Given the description of an element on the screen output the (x, y) to click on. 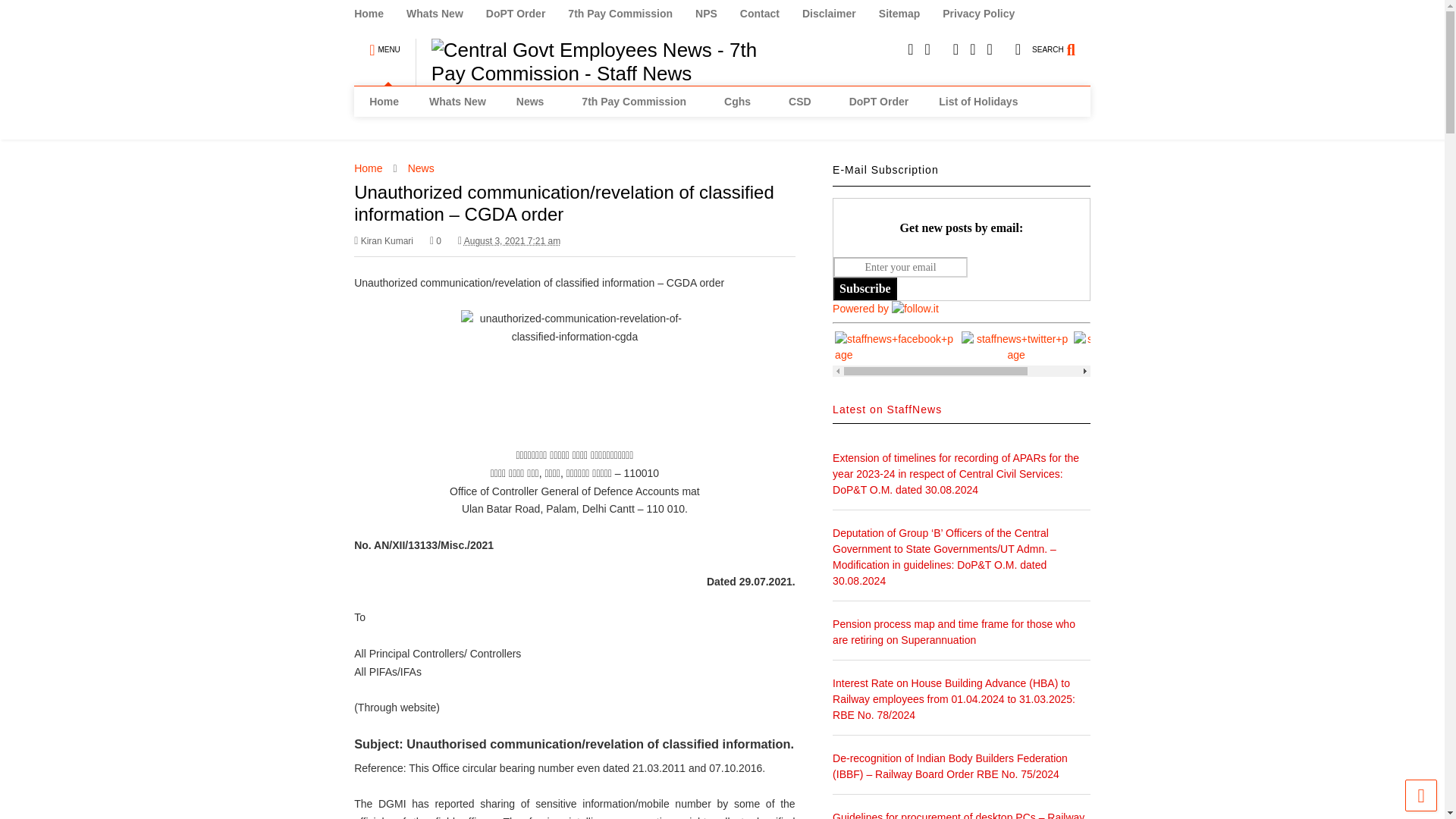
7th Pay Commission (631, 13)
MENU (383, 42)
Contact (770, 13)
Whats New (446, 13)
Home (379, 13)
7th Pay Commission (637, 101)
News (533, 101)
Whats New (456, 101)
Home (383, 101)
